Given the description of an element on the screen output the (x, y) to click on. 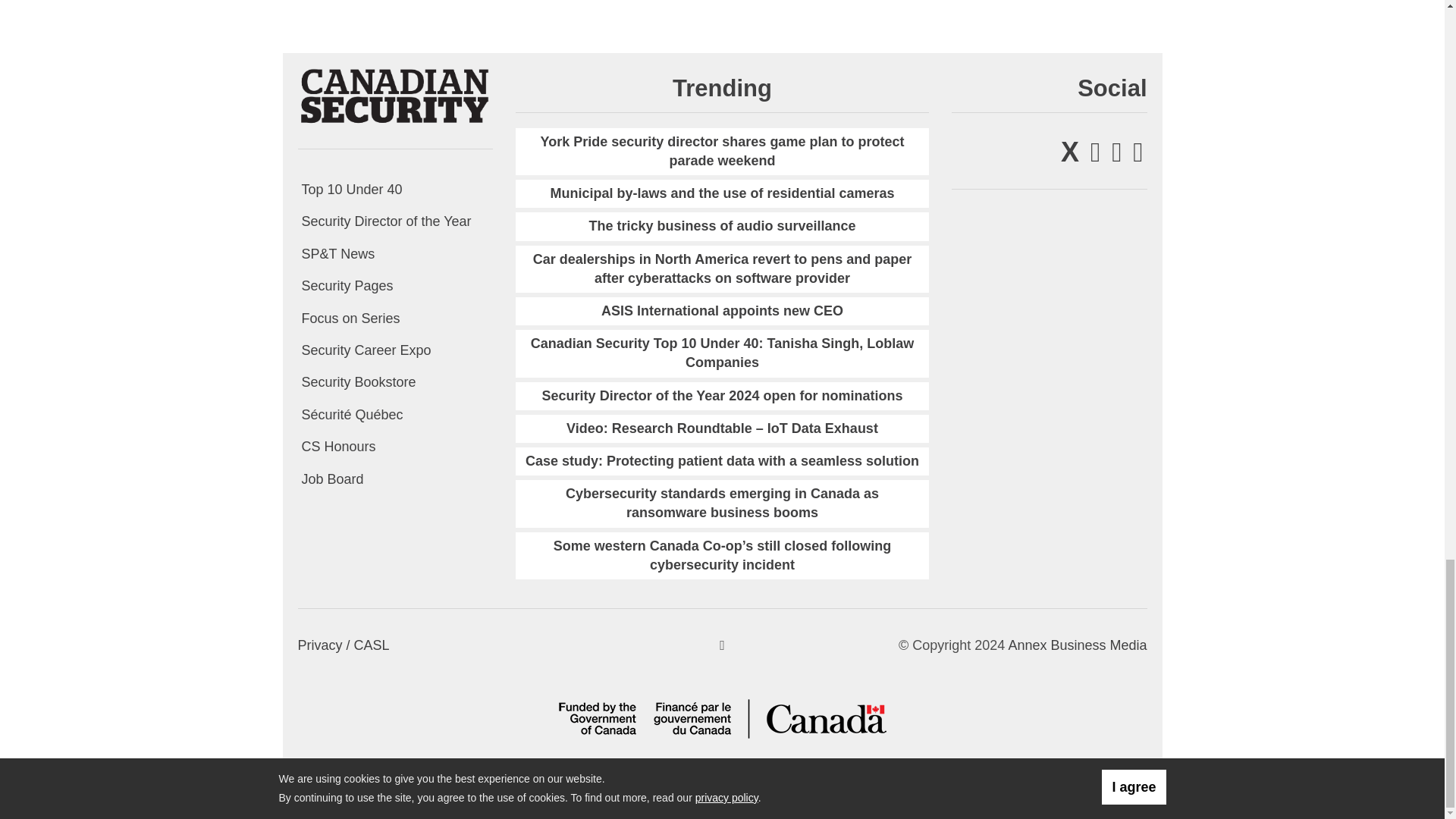
Canadian Security Magazine (395, 95)
Annex Business Media (1077, 645)
